Given the description of an element on the screen output the (x, y) to click on. 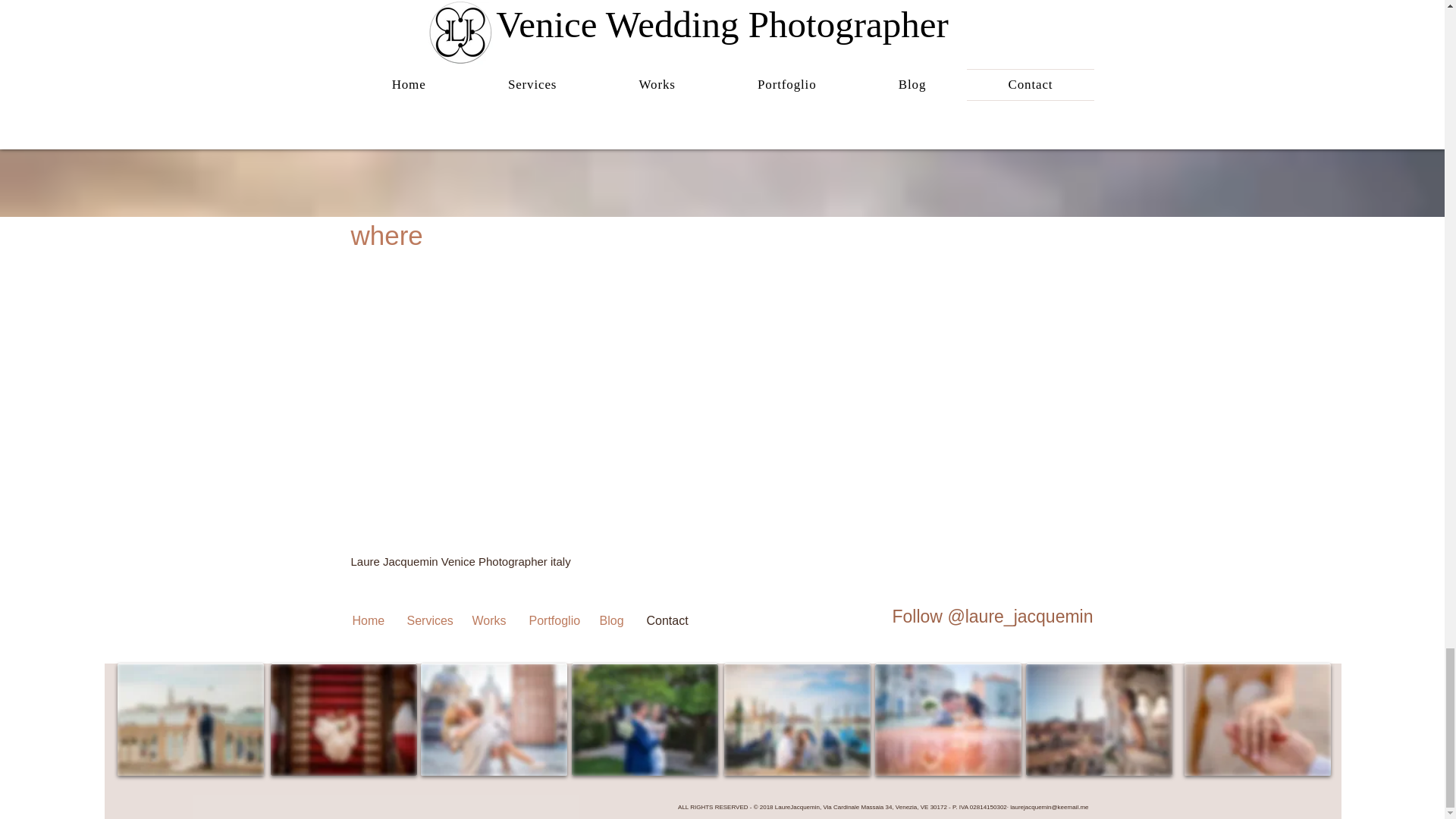
Home (367, 620)
Works (488, 620)
Services (427, 620)
Best wedding photographer in Venice, Italy (493, 719)
